Given the description of an element on the screen output the (x, y) to click on. 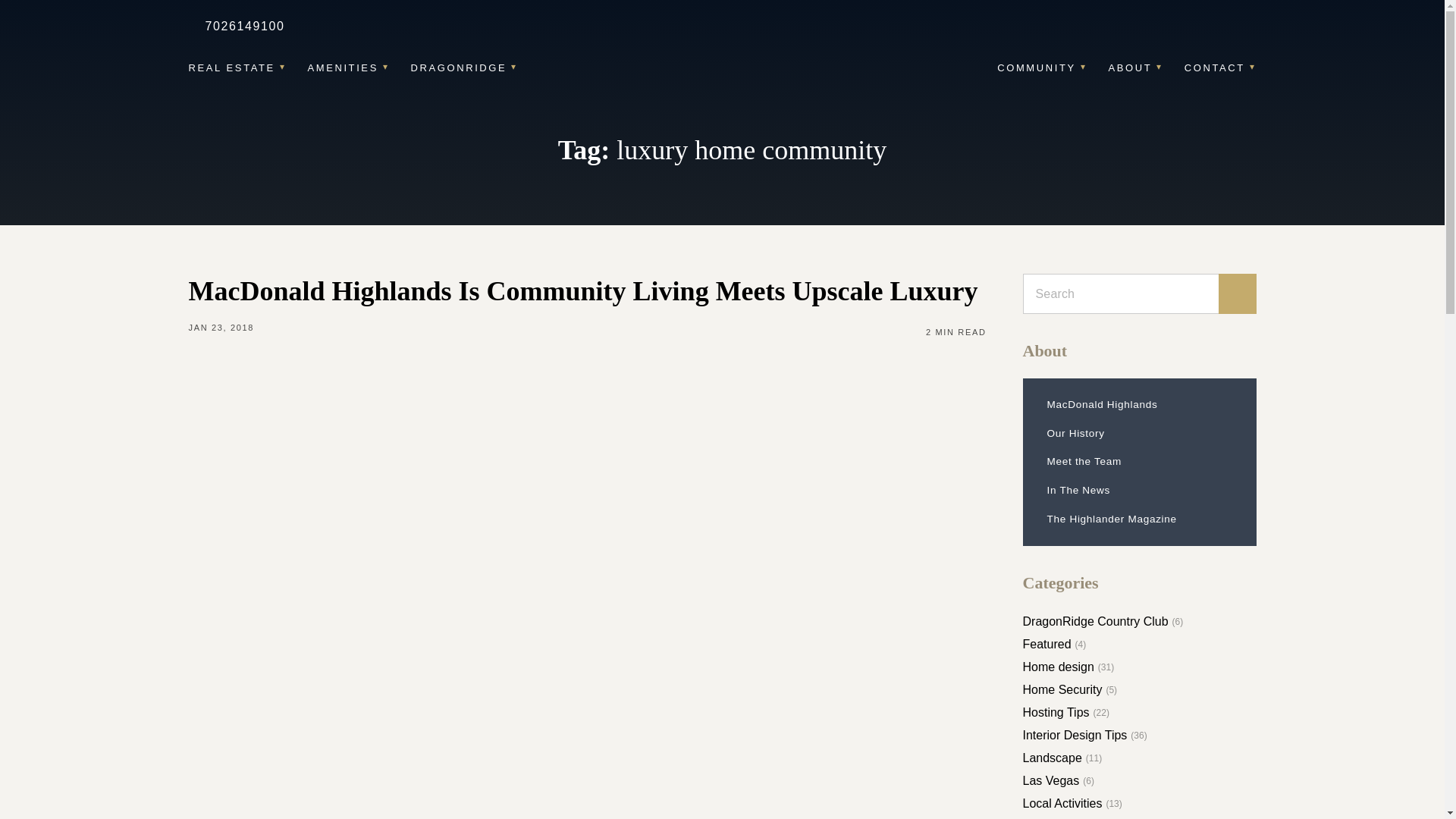
7026149100 (241, 25)
AMENITIES (347, 67)
REAL ESTATE (236, 67)
CONTACT (1220, 67)
ABOUT (1134, 67)
COMMUNITY (1041, 67)
DRAGONRIDGE (464, 67)
